Given the description of an element on the screen output the (x, y) to click on. 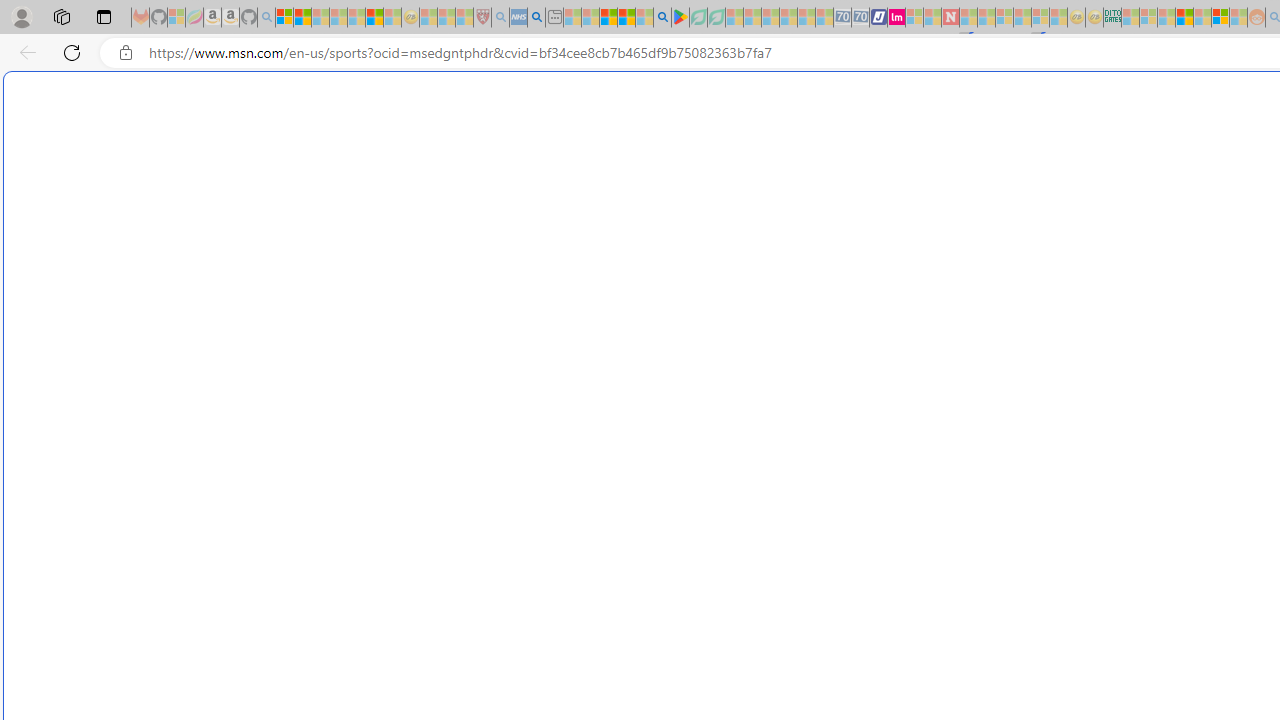
Pets - MSN (626, 17)
